Given the description of an element on the screen output the (x, y) to click on. 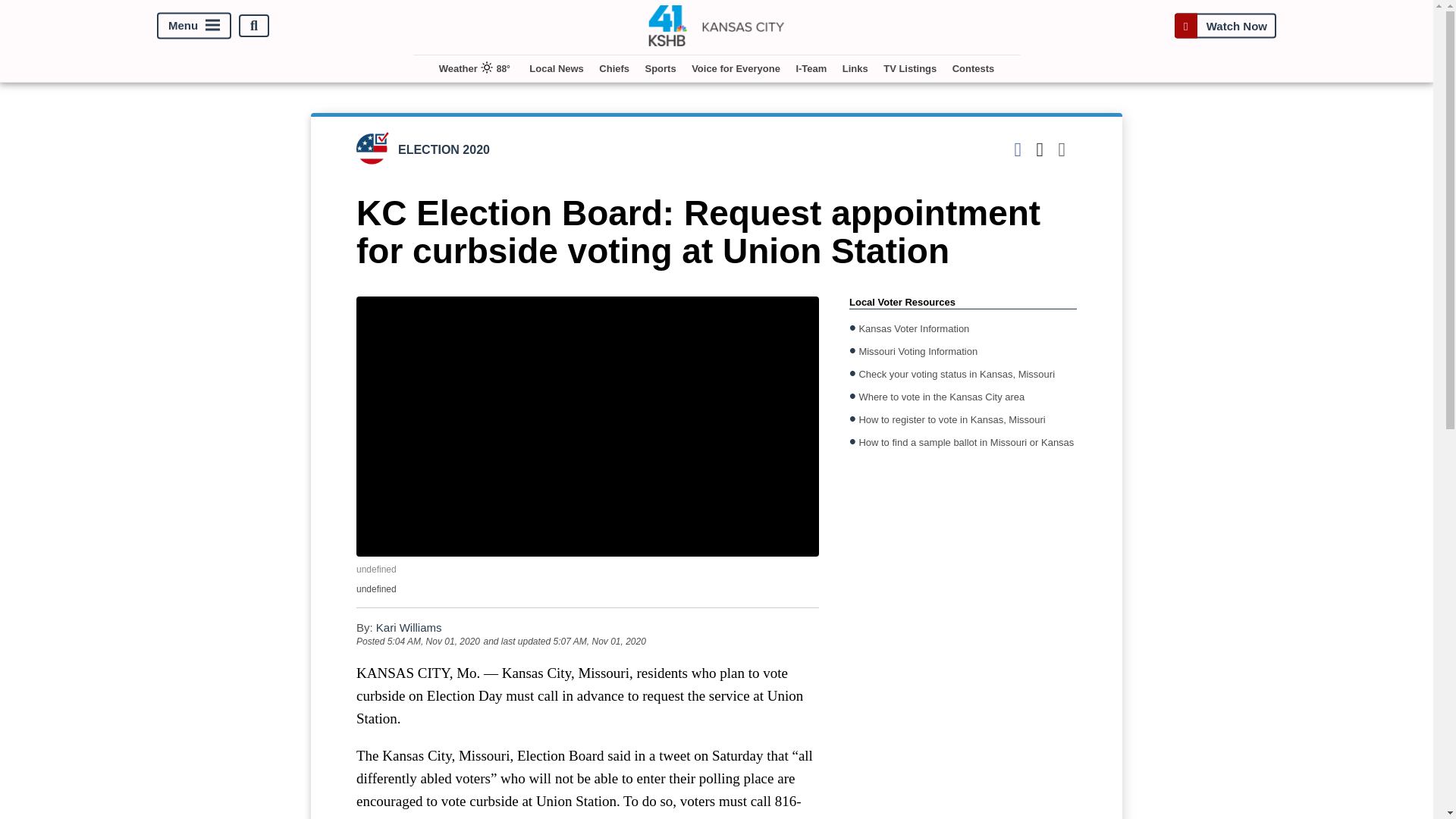
Watch Now (1224, 25)
Menu (194, 26)
